Given the description of an element on the screen output the (x, y) to click on. 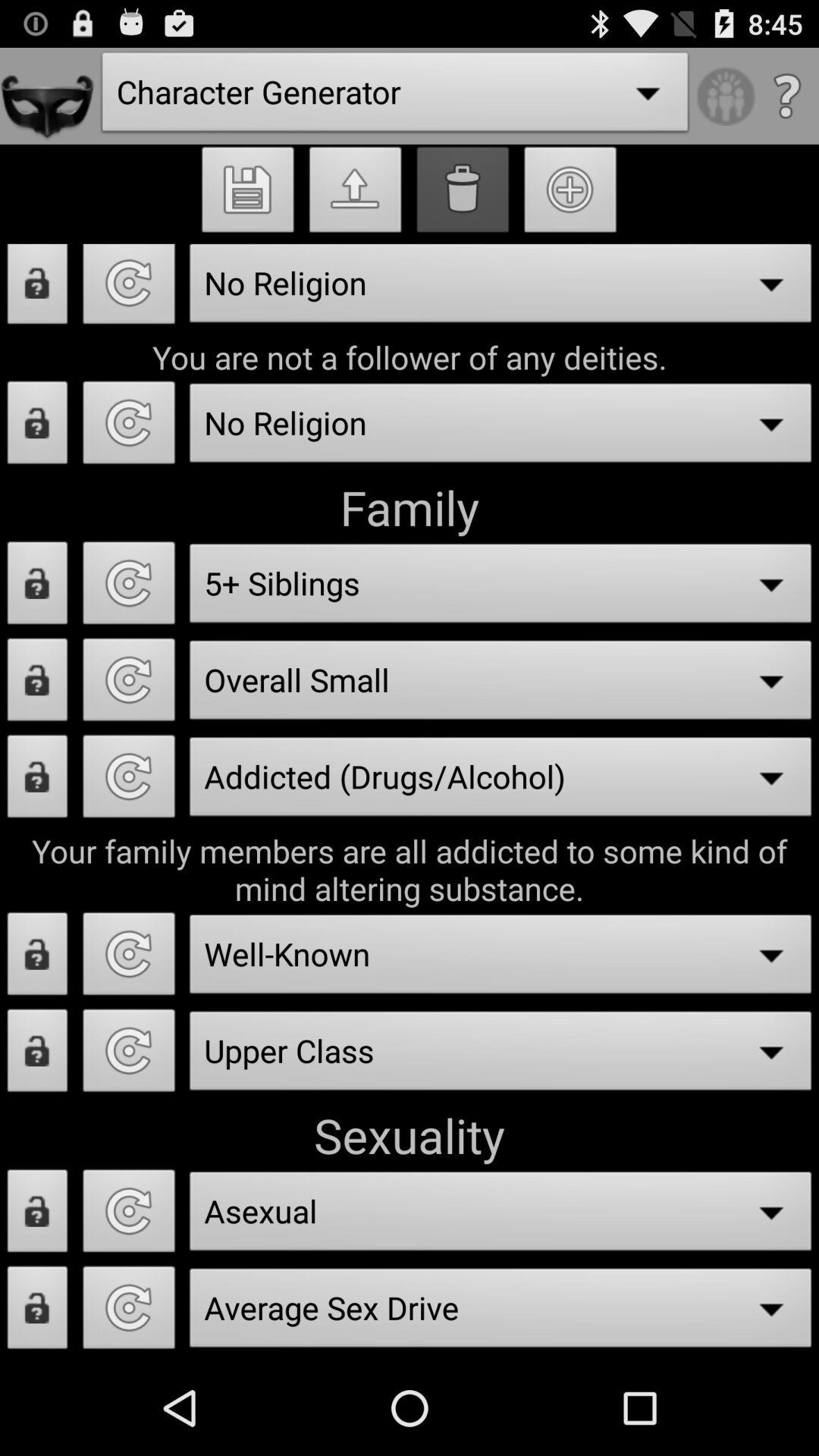
lock page (37, 289)
